Given the description of an element on the screen output the (x, y) to click on. 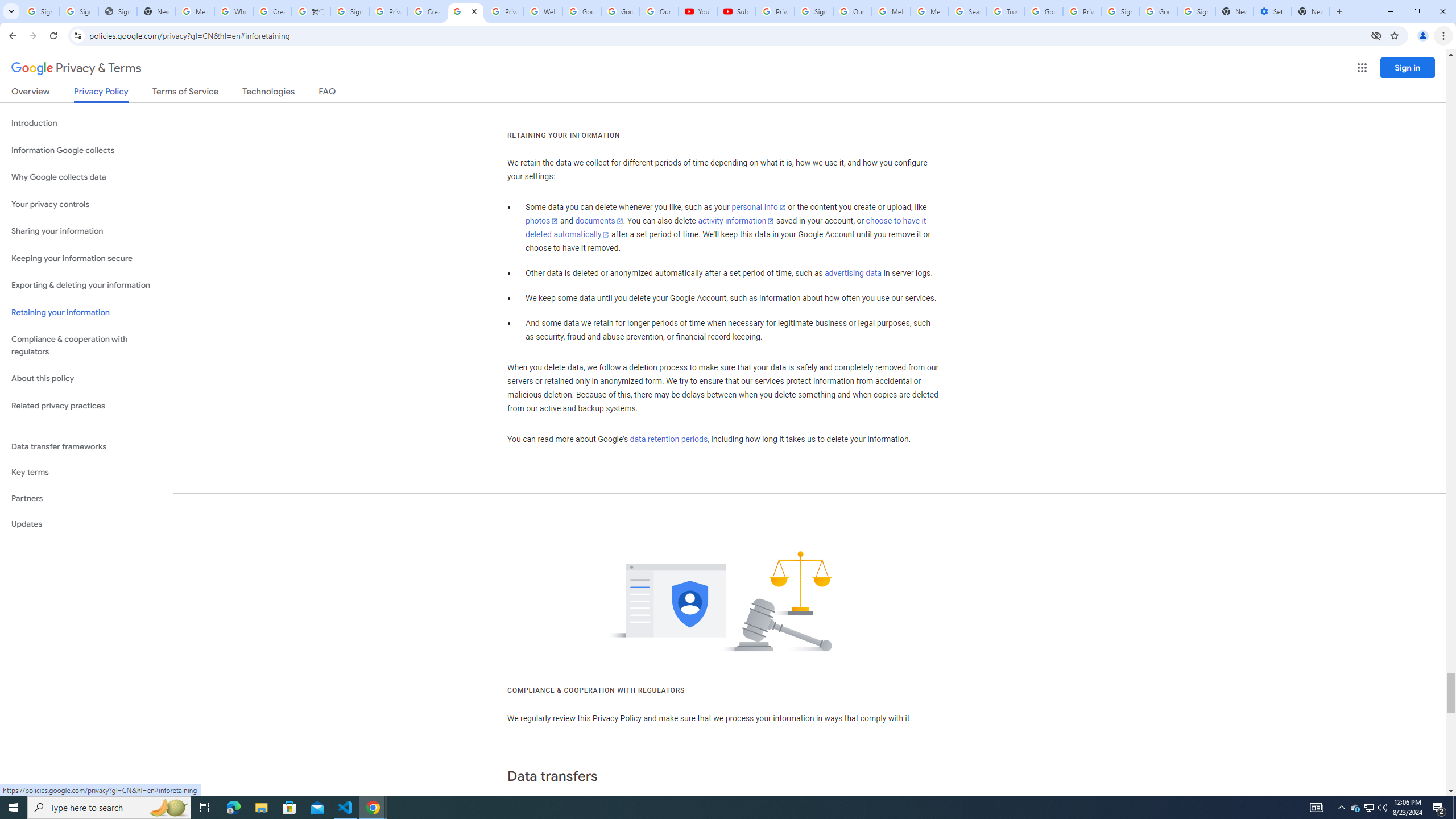
activity information (735, 221)
personal info (758, 207)
Search our Doodle Library Collection - Google Doodles (967, 11)
New Tab (1311, 11)
